Given the description of an element on the screen output the (x, y) to click on. 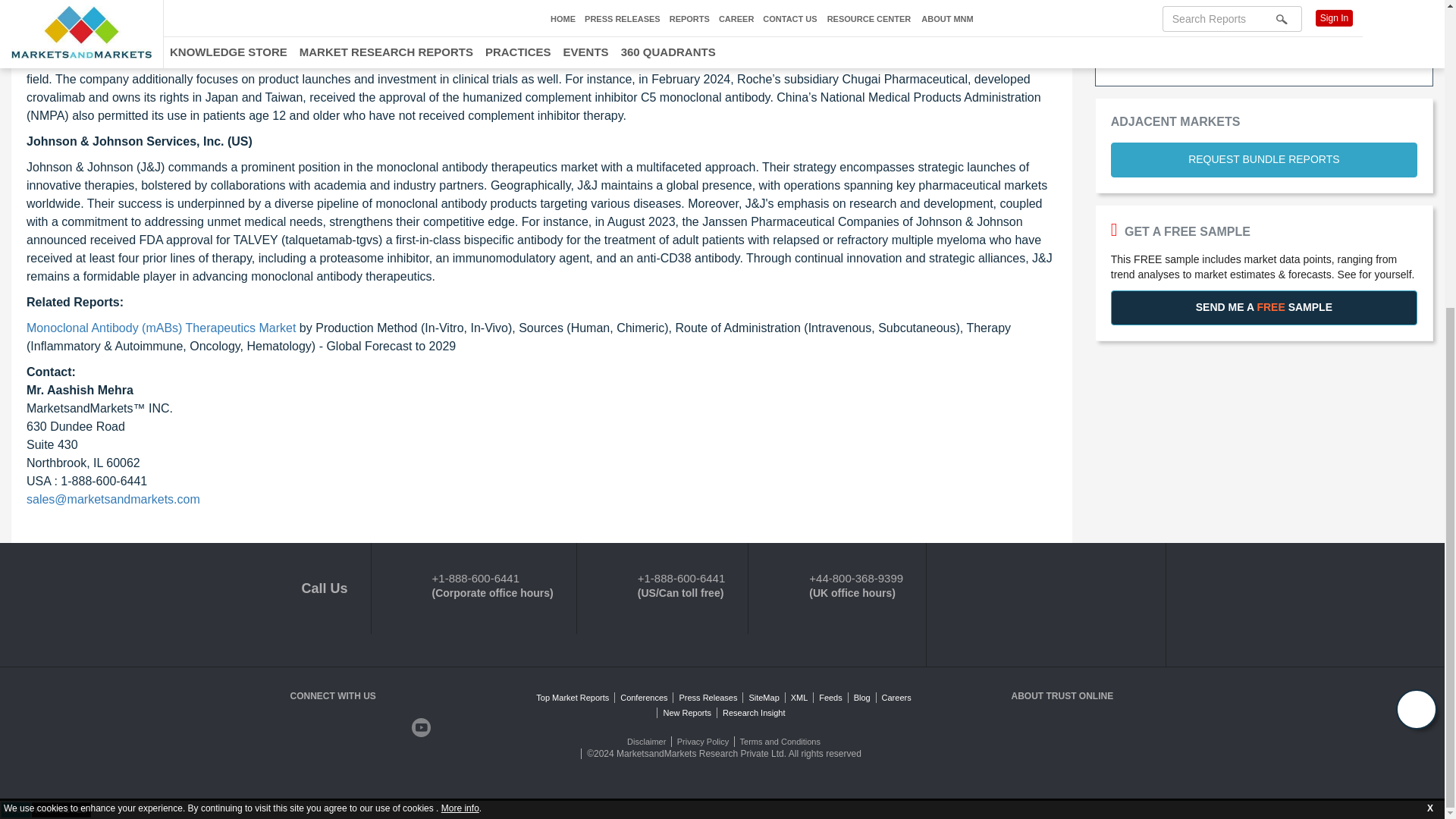
REQUEST BUNDLE REPORTS (1263, 159)
More info (460, 321)
Inquire Before Buying (1264, 61)
BUY NOW (1263, 22)
SEND ME A FREE SAMPLE (1263, 307)
